Given the description of an element on the screen output the (x, y) to click on. 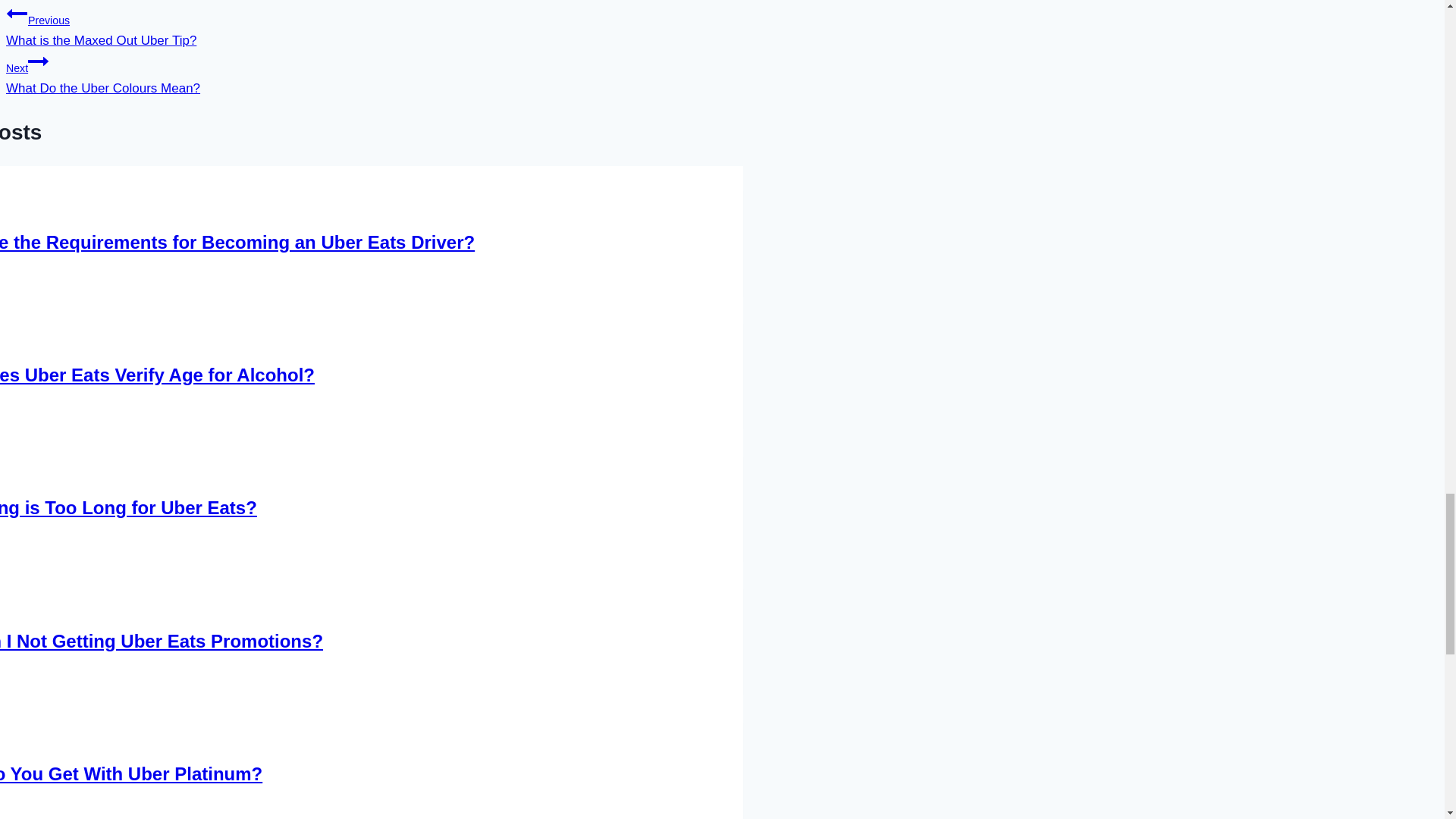
Continue (325, 72)
What are the Requirements for Becoming an Uber Eats Driver? (325, 25)
Why am I Not Getting Uber Eats Promotions? (37, 61)
How Long is Too Long for Uber Eats? (237, 241)
Previous (161, 640)
What Do You Get With Uber Platinum? (128, 507)
How Does Uber Eats Verify Age for Alcohol? (16, 13)
